Given the description of an element on the screen output the (x, y) to click on. 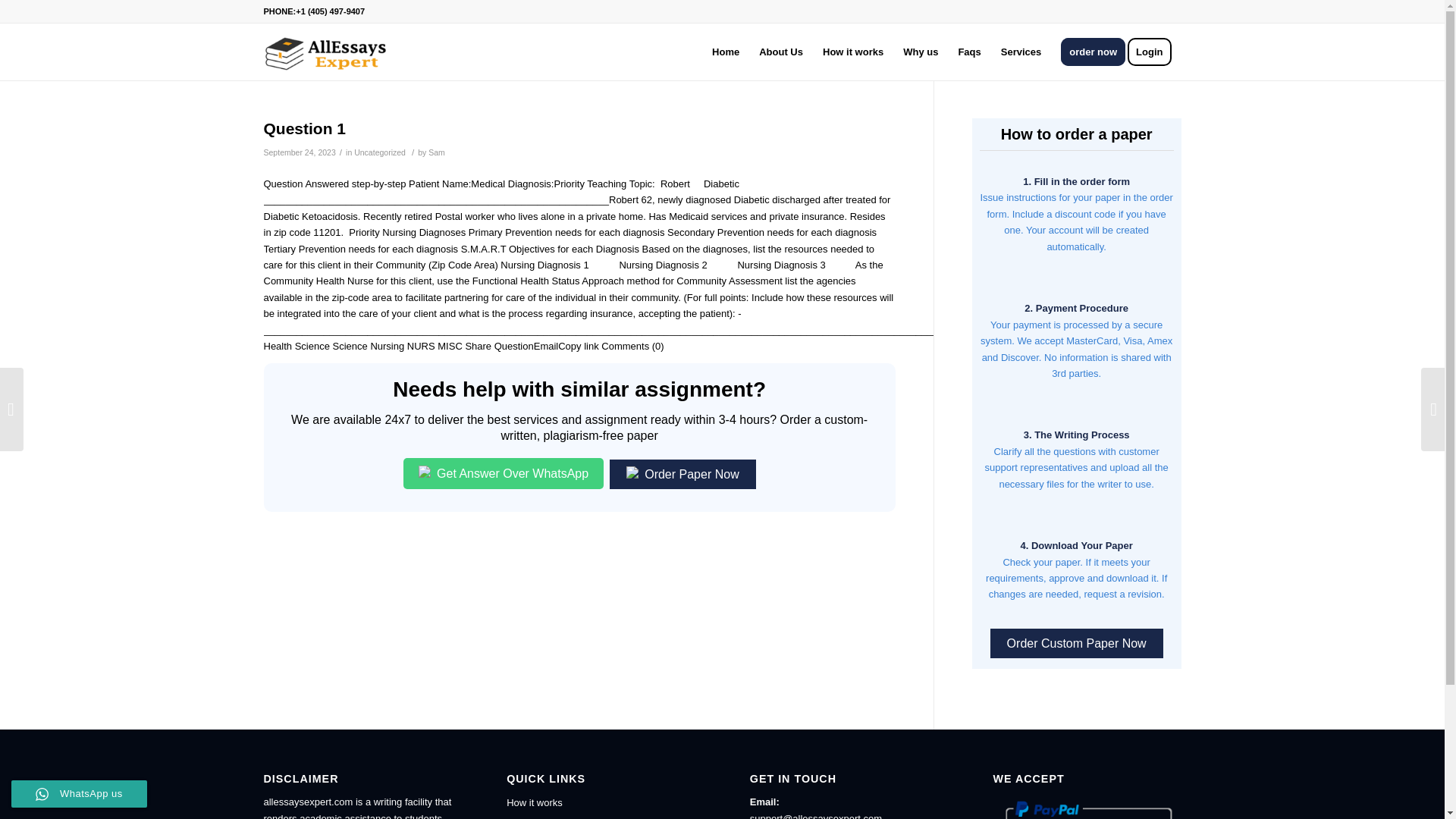
Order Paper Now (682, 473)
How it works (852, 51)
Order Custom Paper Now (1076, 643)
How it works (600, 802)
Posts by Sam (436, 152)
Faqs (600, 816)
Get Answer Over WhatsApp (503, 472)
order now (1093, 51)
Login (1153, 51)
Uncategorized (379, 152)
About Us (780, 51)
Services (1021, 51)
Sam (436, 152)
Why us (920, 51)
